Given the description of an element on the screen output the (x, y) to click on. 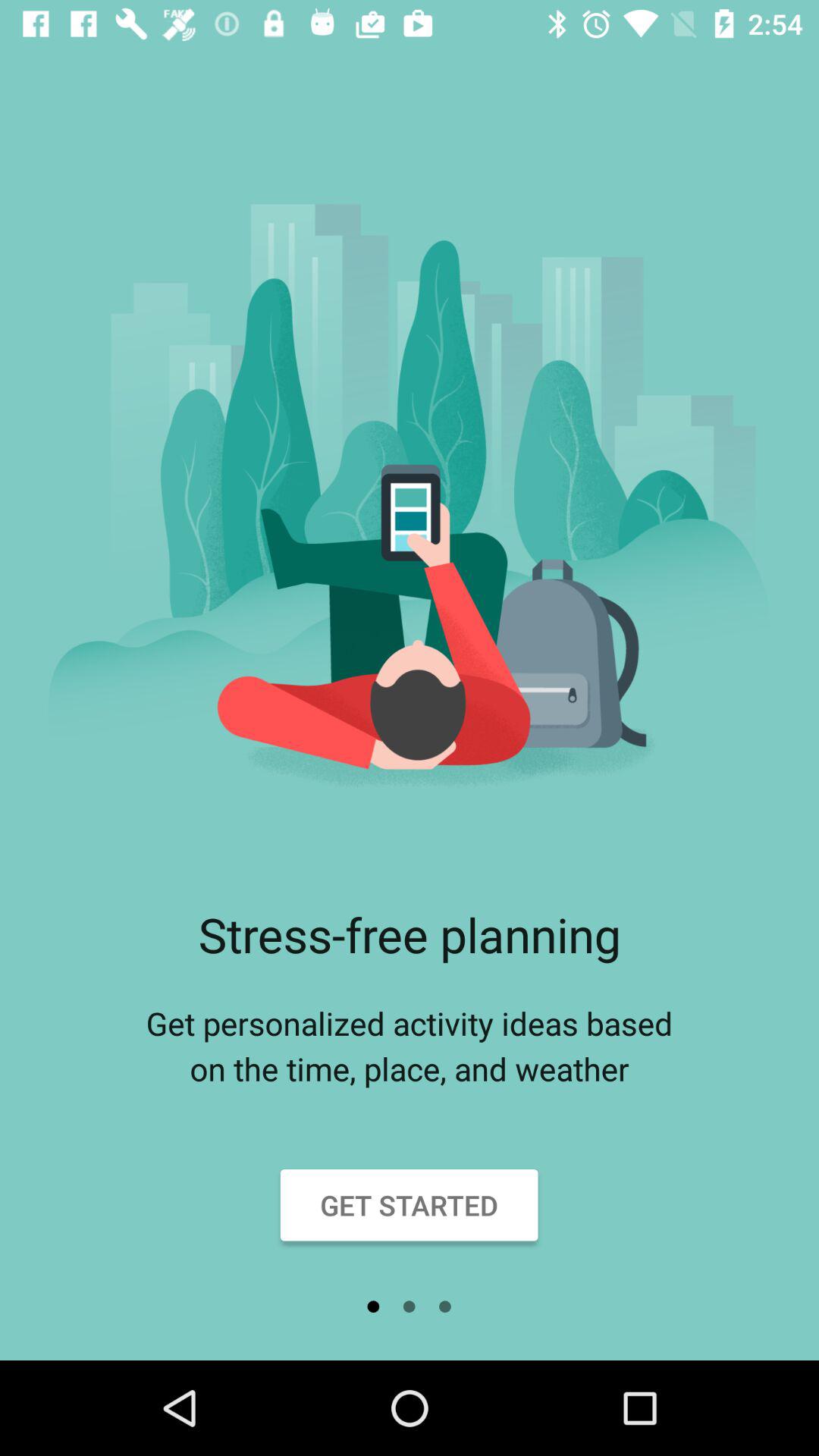
turn on icon below get started item (373, 1306)
